Given the description of an element on the screen output the (x, y) to click on. 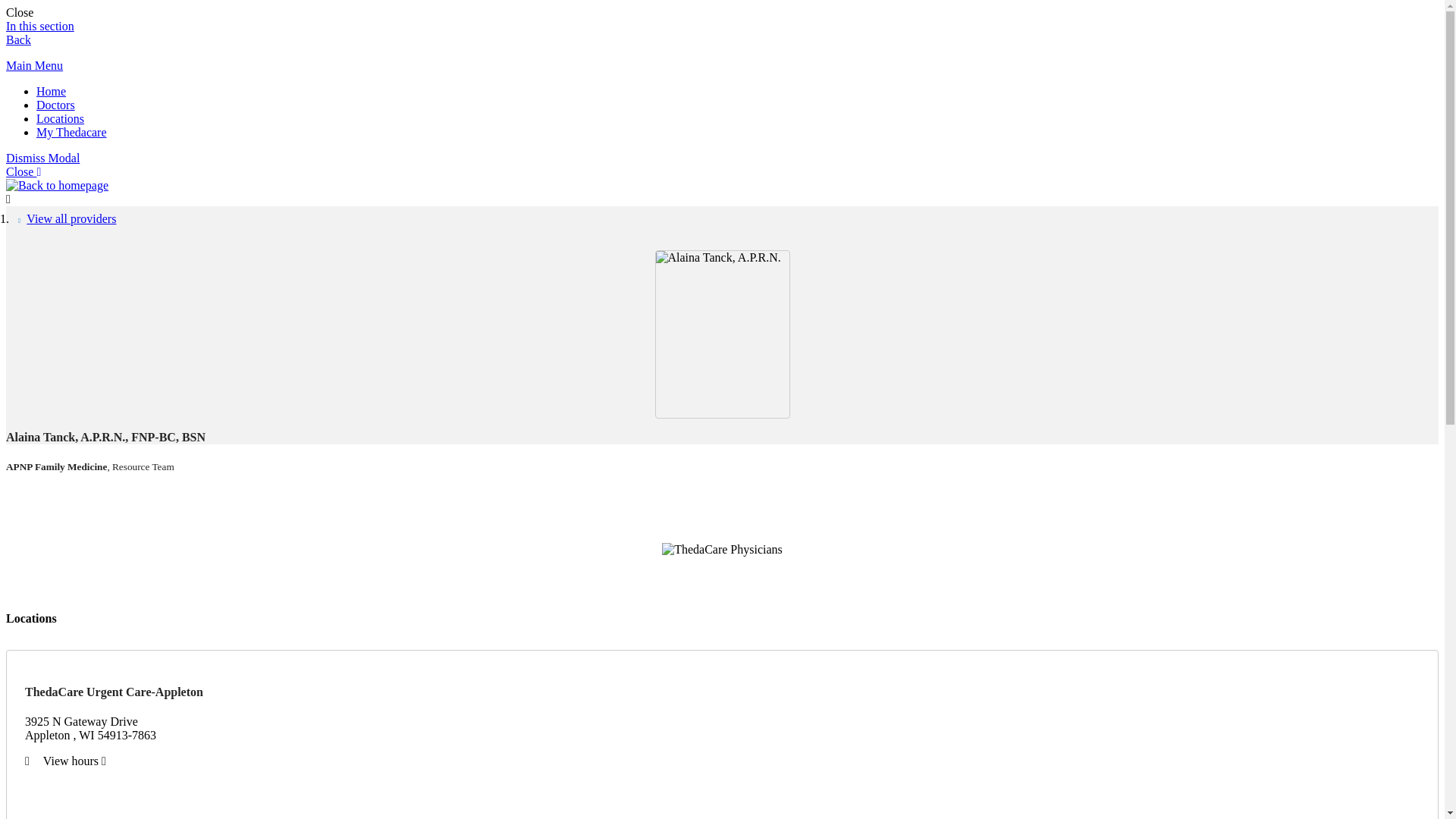
Dismiss Modal (42, 157)
ThedaCare Urgent Care-Appleton (113, 691)
Close (22, 171)
My Thedacare (71, 132)
Doctors (55, 104)
Close (19, 11)
Close (19, 11)
view section menu (39, 25)
Back (17, 39)
Close (22, 171)
